Given the description of an element on the screen output the (x, y) to click on. 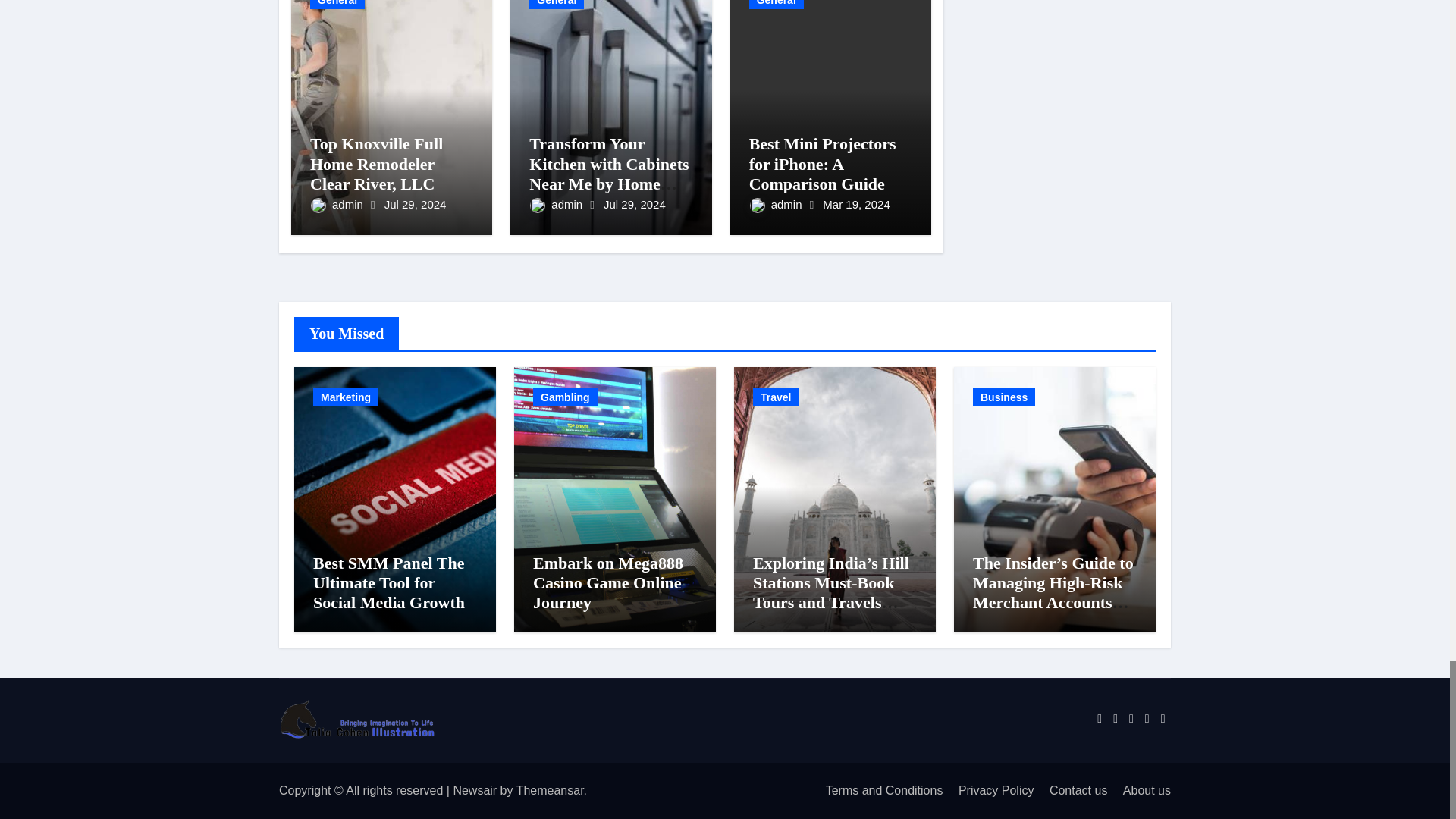
Terms and Conditions (878, 790)
Contact us (1071, 790)
Privacy Policy (989, 790)
About us (1140, 790)
Permalink to: Embark on Mega888 Casino Game Online Journey (607, 582)
